Given the description of an element on the screen output the (x, y) to click on. 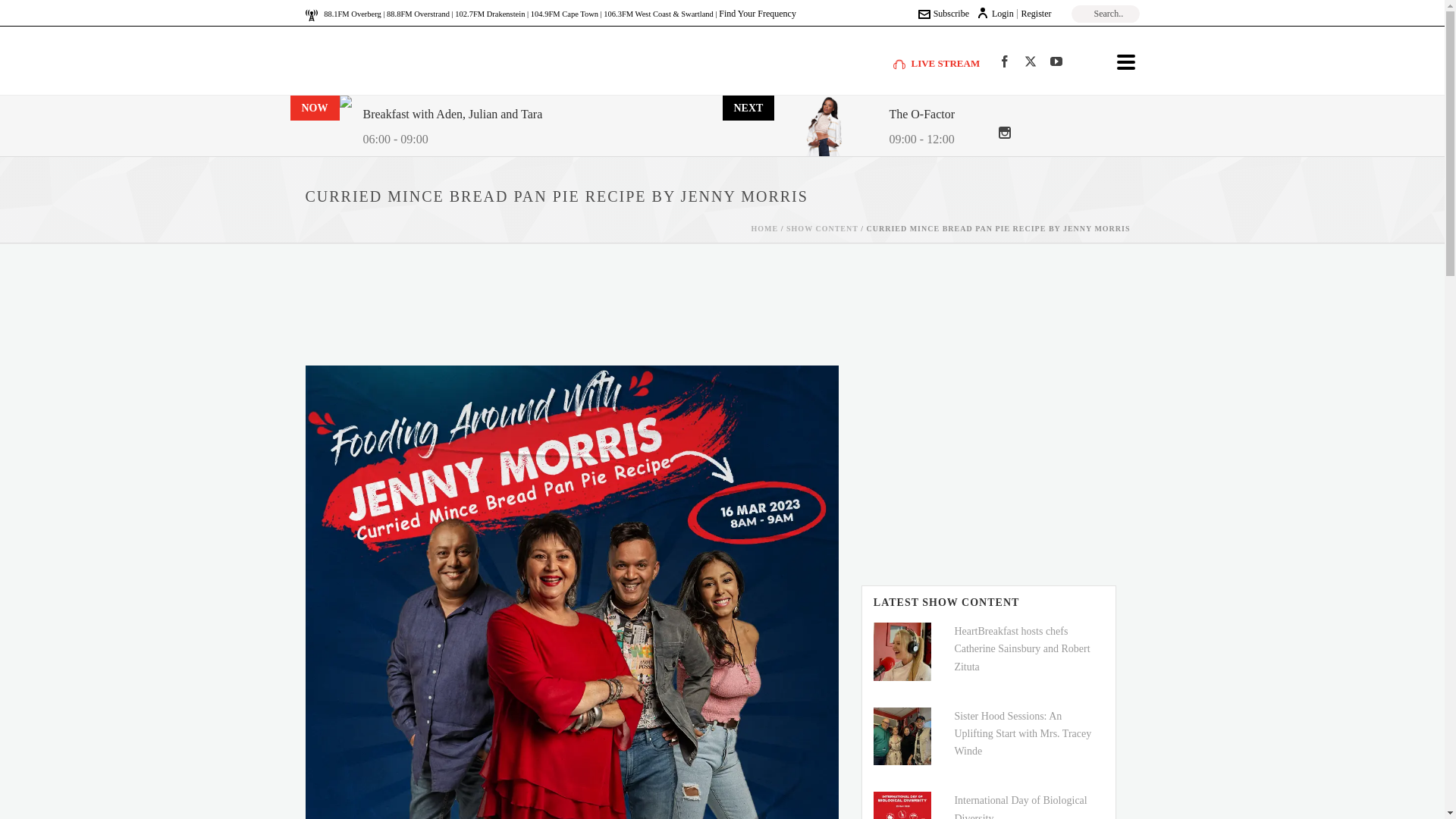
HOME (764, 228)
Subscribe (943, 13)
Find Your Frequency (757, 13)
LIVE STREAM (936, 62)
International Day Of Biological Diversity (902, 805)
Register (1035, 13)
tempimagepvzsmt (902, 736)
International Day of Biological Diversity (1019, 806)
Login (994, 13)
